Given the description of an element on the screen output the (x, y) to click on. 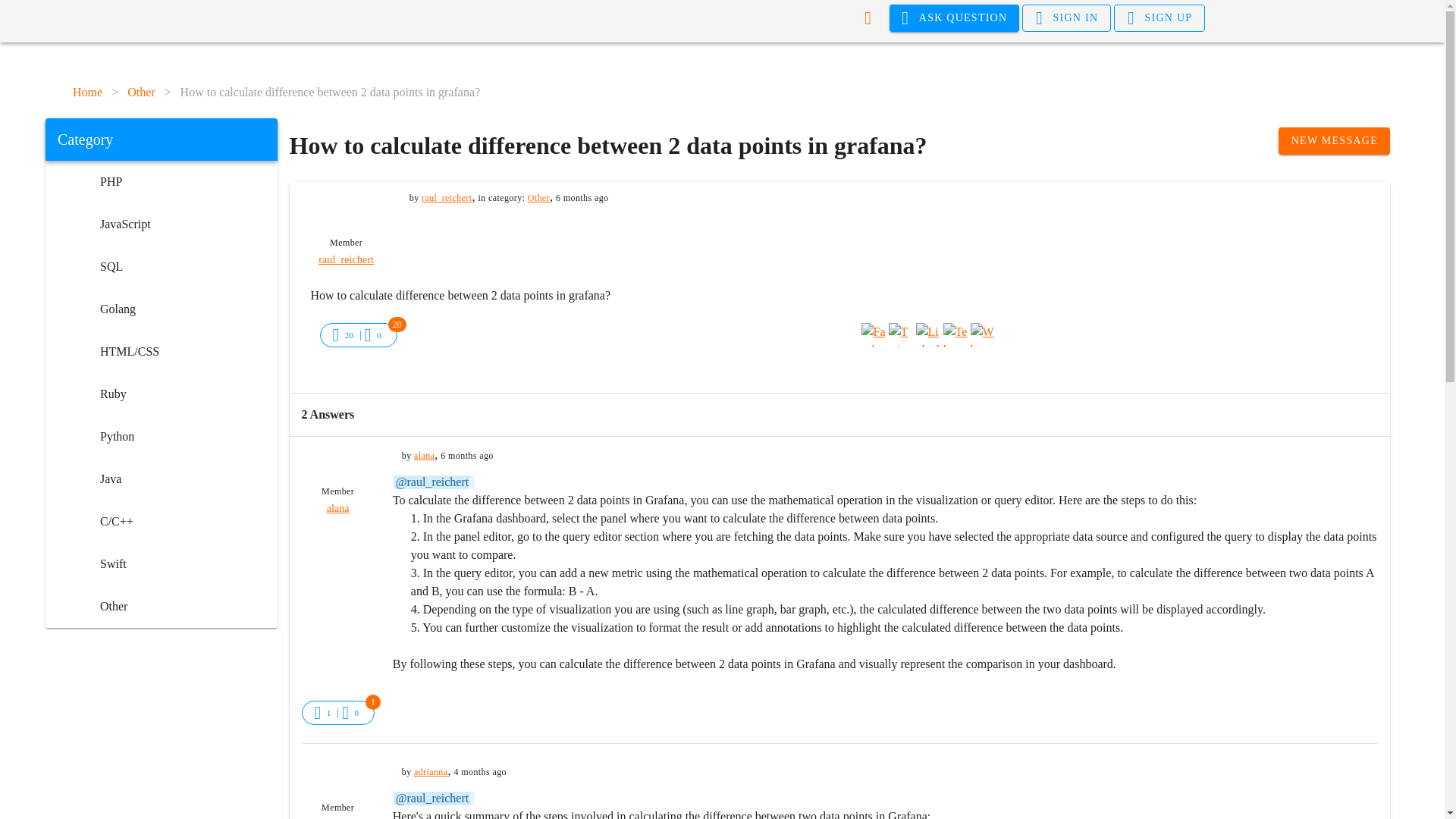
Whatsapp (982, 334)
Twitter (900, 334)
20 likes (349, 334)
Home (86, 92)
Telegram (955, 334)
NEW MESSAGE (1334, 140)
Swift (161, 563)
LinkedIn (927, 334)
Python (161, 436)
Golang (161, 309)
